Given the description of an element on the screen output the (x, y) to click on. 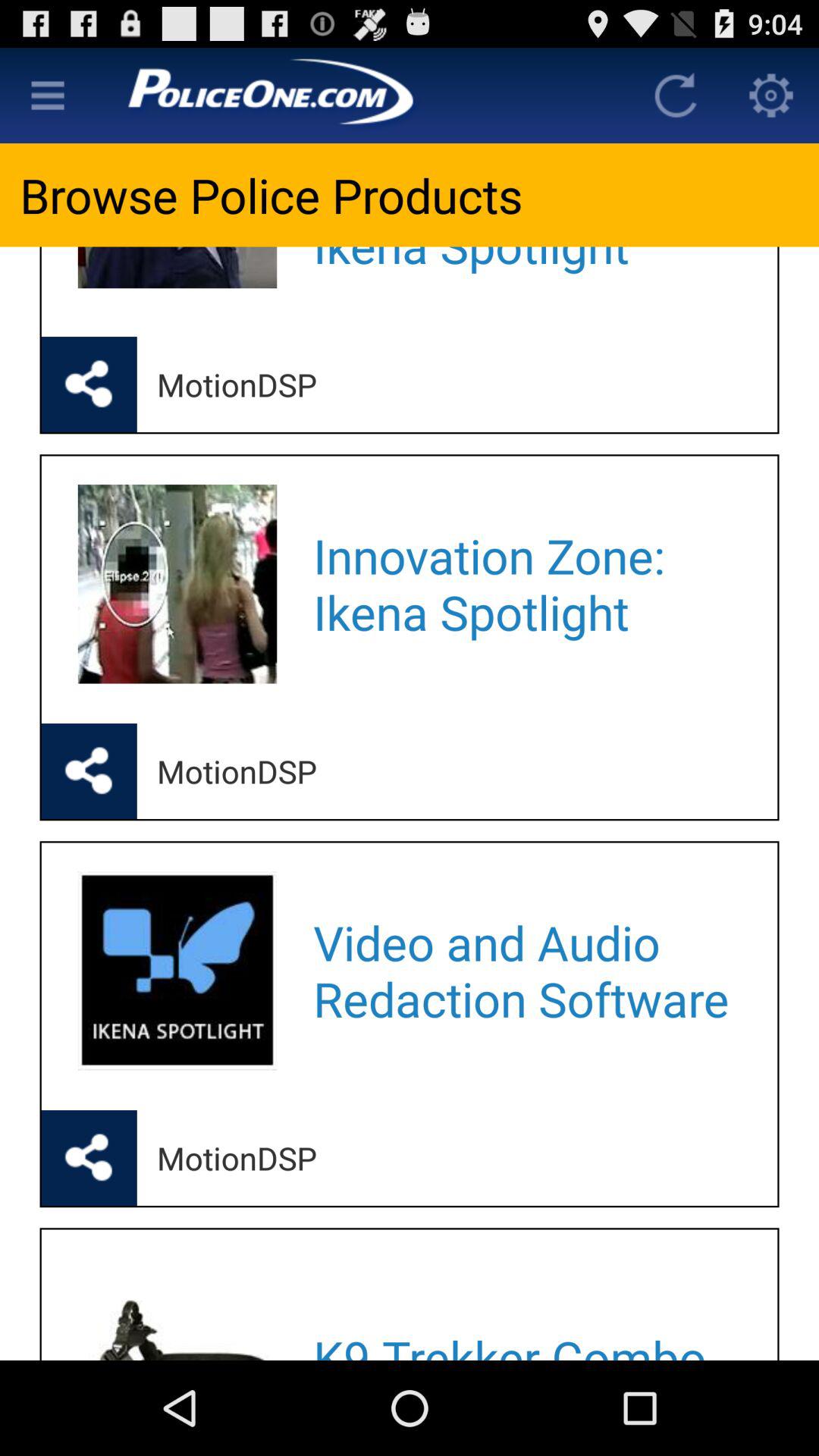
share (89, 384)
